Given the description of an element on the screen output the (x, y) to click on. 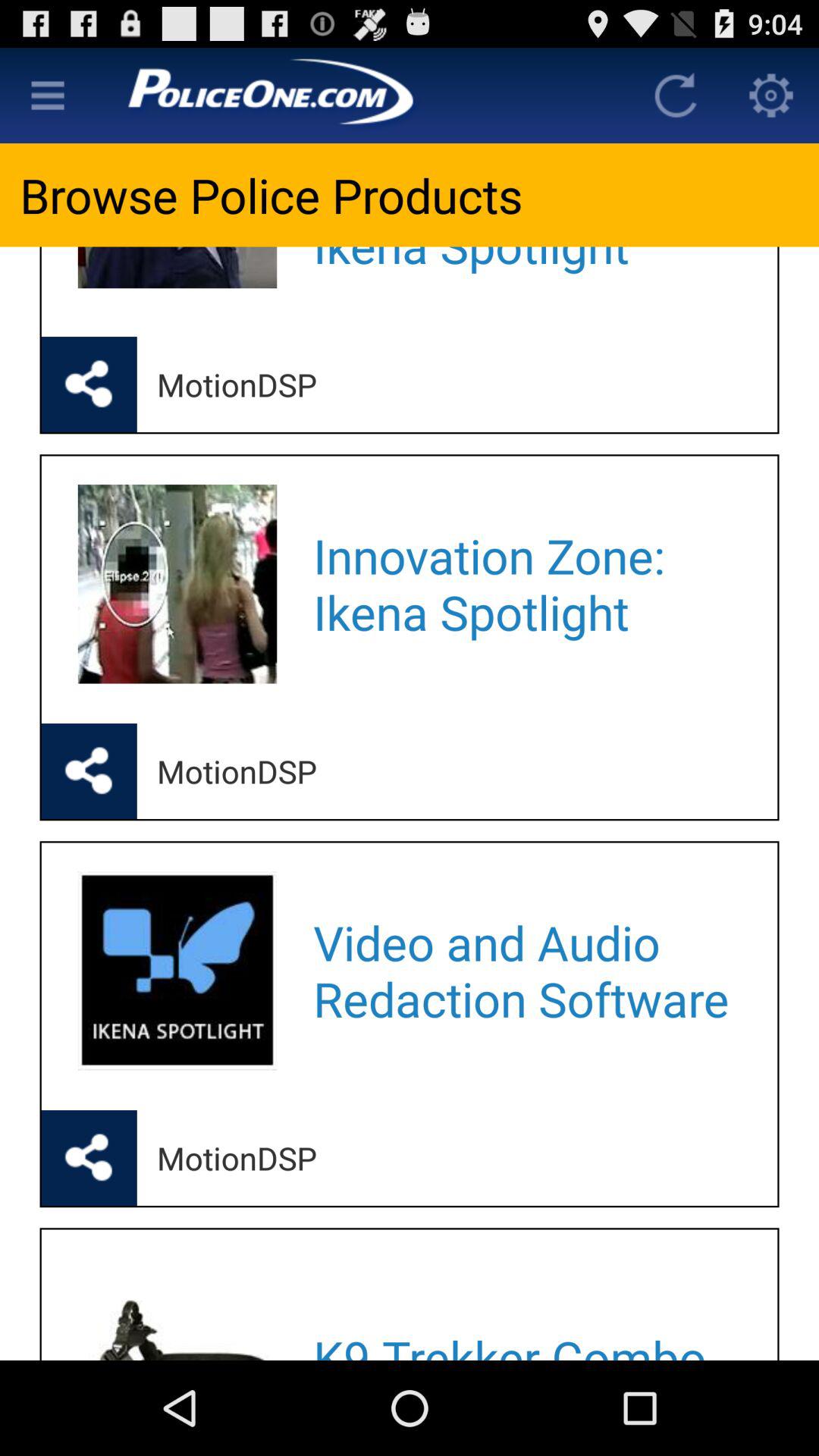
share (89, 384)
